Given the description of an element on the screen output the (x, y) to click on. 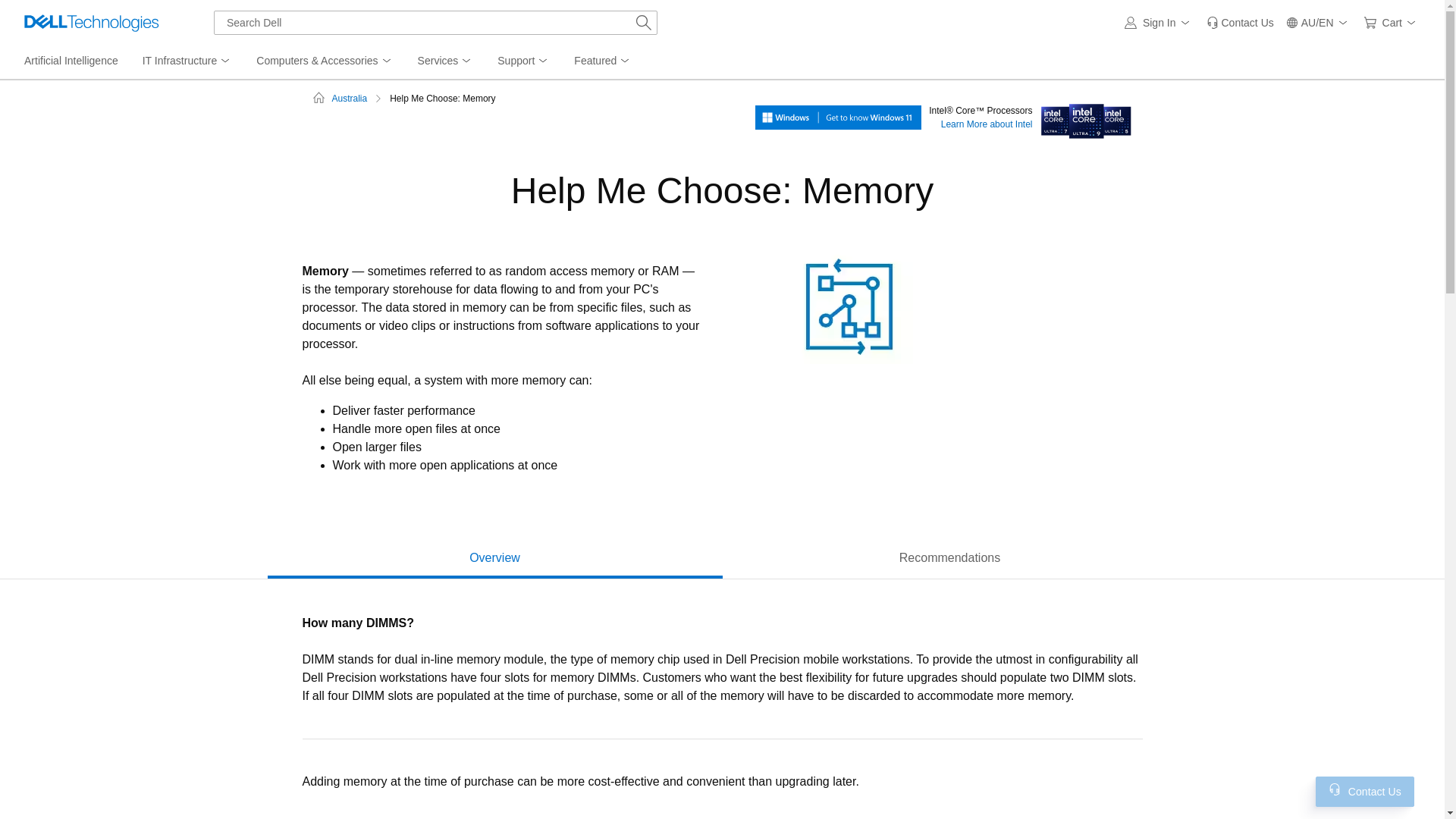
Sign In (1158, 22)
Recommendations (949, 557)
Cart (1392, 22)
Contact Us (1239, 22)
Contact Us (1333, 788)
Windows I Get to know Windows 11 (838, 116)
Overview (493, 557)
Learn More about Intel (1085, 116)
Artificial Intelligence (71, 61)
IT Infrastructure (187, 61)
